Given the description of an element on the screen output the (x, y) to click on. 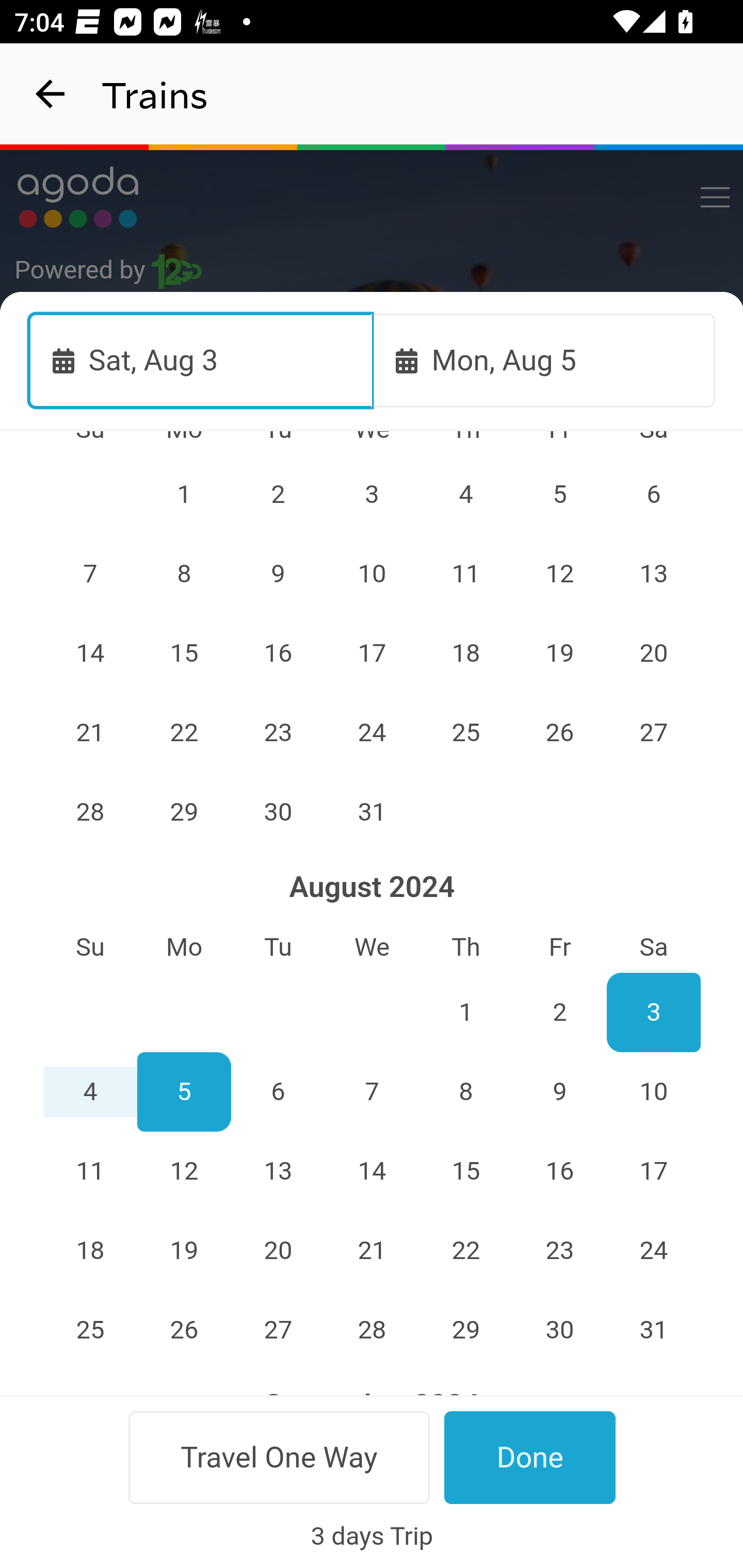
navigation_button (50, 93)
Sat, Aug 3 (200, 359)
Mon, Aug 5 (544, 359)
1 (184, 493)
2 (278, 493)
3 (372, 493)
4 (465, 493)
5 (559, 493)
6 (654, 493)
7 (90, 573)
8 (184, 573)
9 (278, 573)
10 (372, 573)
11 (465, 573)
12 (559, 573)
13 (654, 573)
14 (90, 652)
15 (184, 652)
16 (278, 652)
17 (372, 652)
18 (465, 652)
19 (559, 652)
20 (654, 652)
21 (90, 732)
22 (184, 732)
23 (278, 732)
24 (372, 732)
25 (465, 732)
26 (559, 732)
27 (654, 732)
28 (90, 811)
29 (184, 811)
30 (278, 811)
31 (372, 811)
 2 Passengers (372, 887)
1 (465, 1011)
2 (559, 1011)
3 (654, 1011)
4 (90, 1091)
5 (184, 1091)
6 (278, 1091)
7 (372, 1091)
8 (465, 1091)
9 (559, 1091)
10 (654, 1091)
11 (90, 1171)
12 (184, 1171)
13 (278, 1171)
14 (372, 1171)
15 (465, 1171)
